Given the description of an element on the screen output the (x, y) to click on. 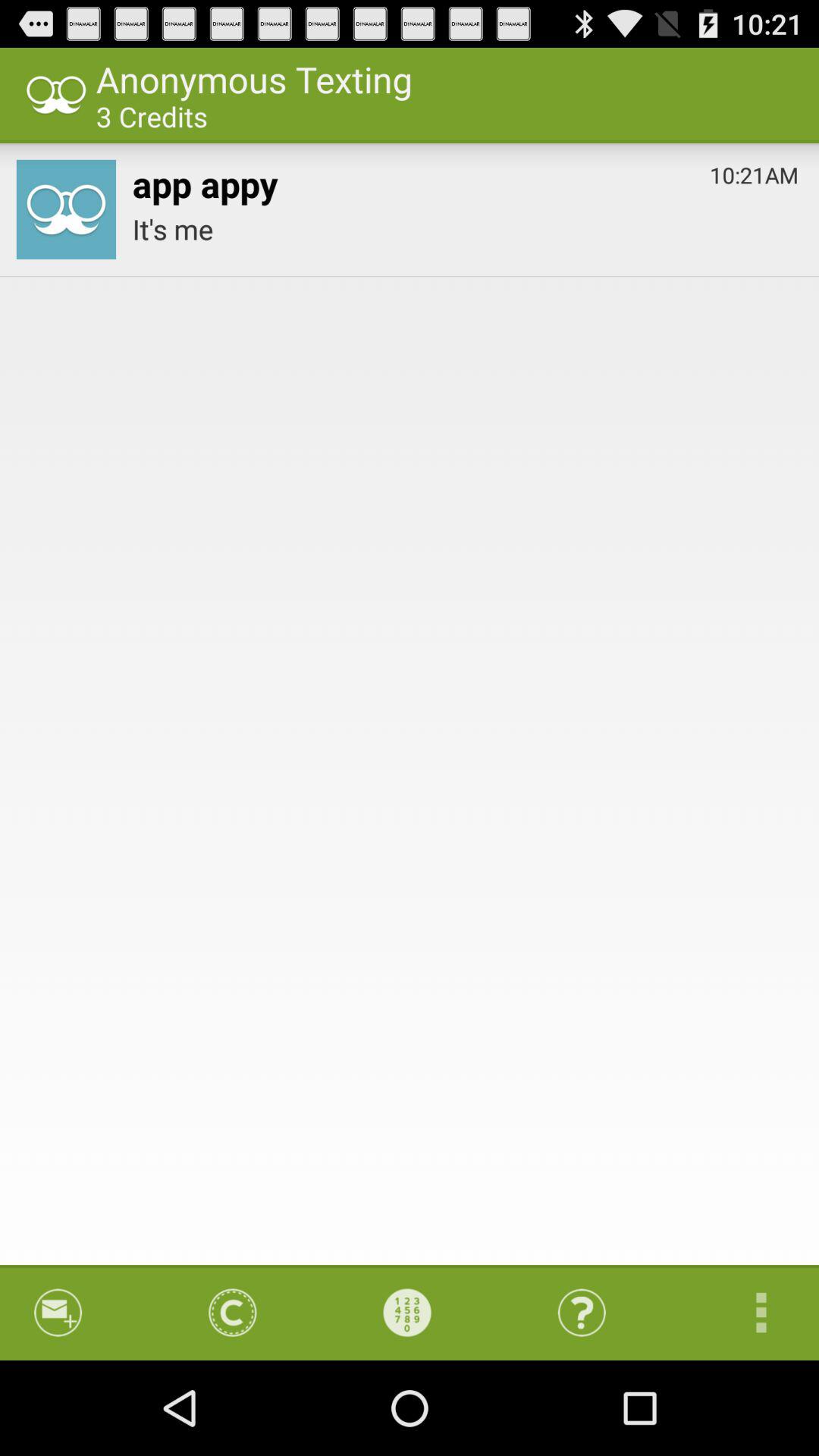
click the app below it's me item (407, 1312)
